Given the description of an element on the screen output the (x, y) to click on. 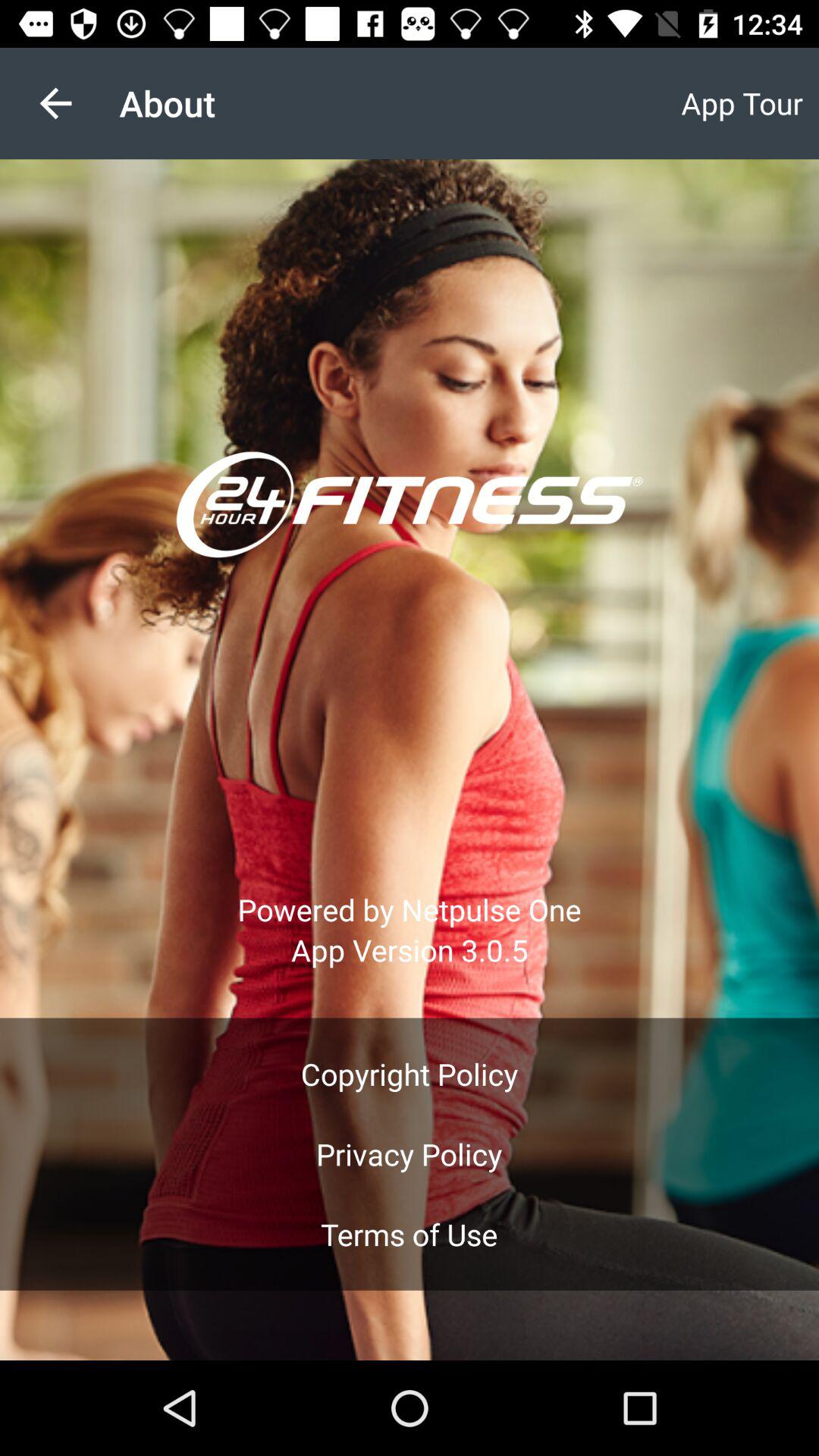
scroll to the terms of use (408, 1234)
